Given the description of an element on the screen output the (x, y) to click on. 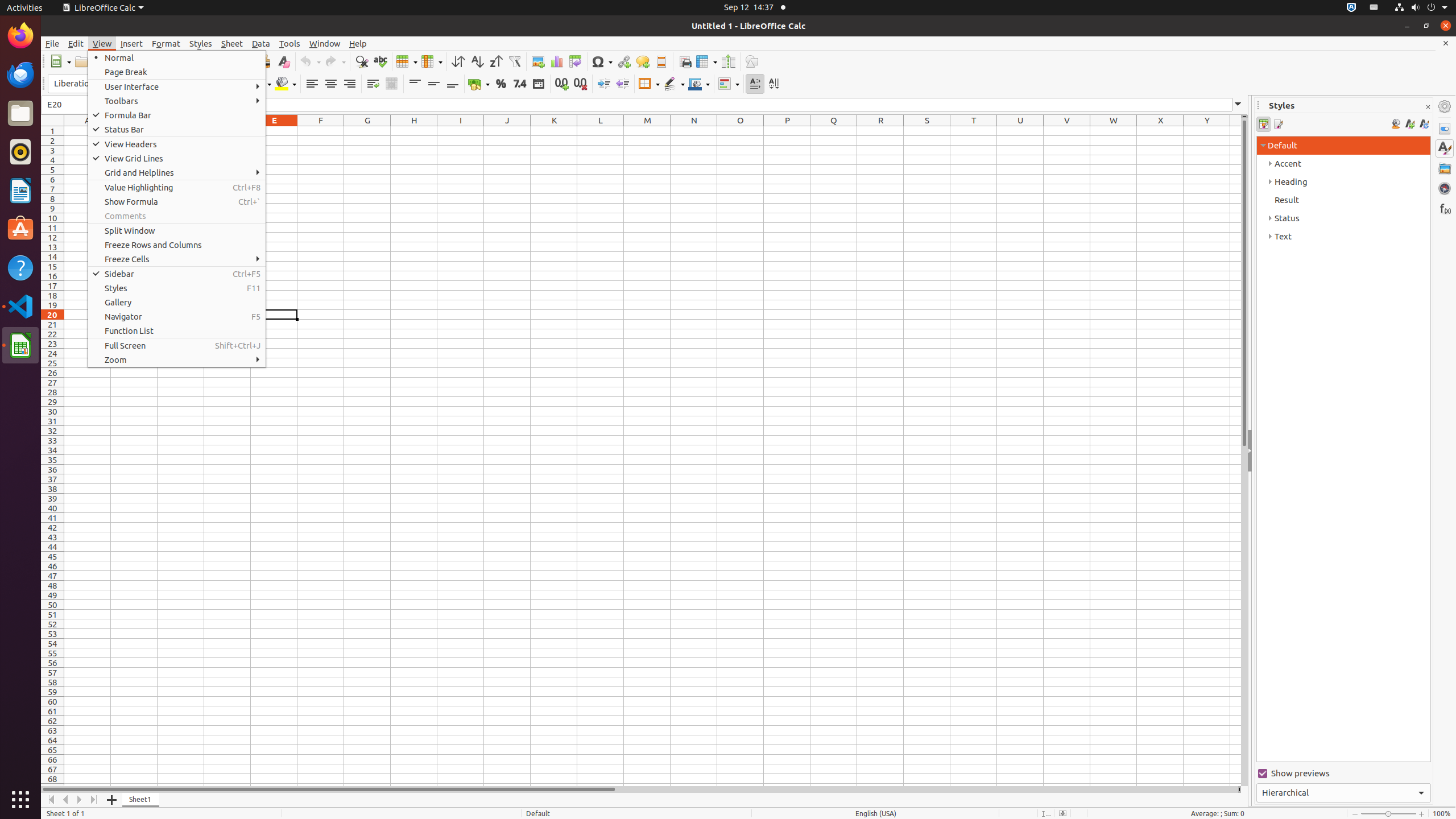
C1 Element type: table-cell (180, 130)
Image Element type: push-button (537, 61)
T1 Element type: table-cell (973, 130)
View Element type: menu (102, 43)
Clear Element type: push-button (283, 61)
